Given the description of an element on the screen output the (x, y) to click on. 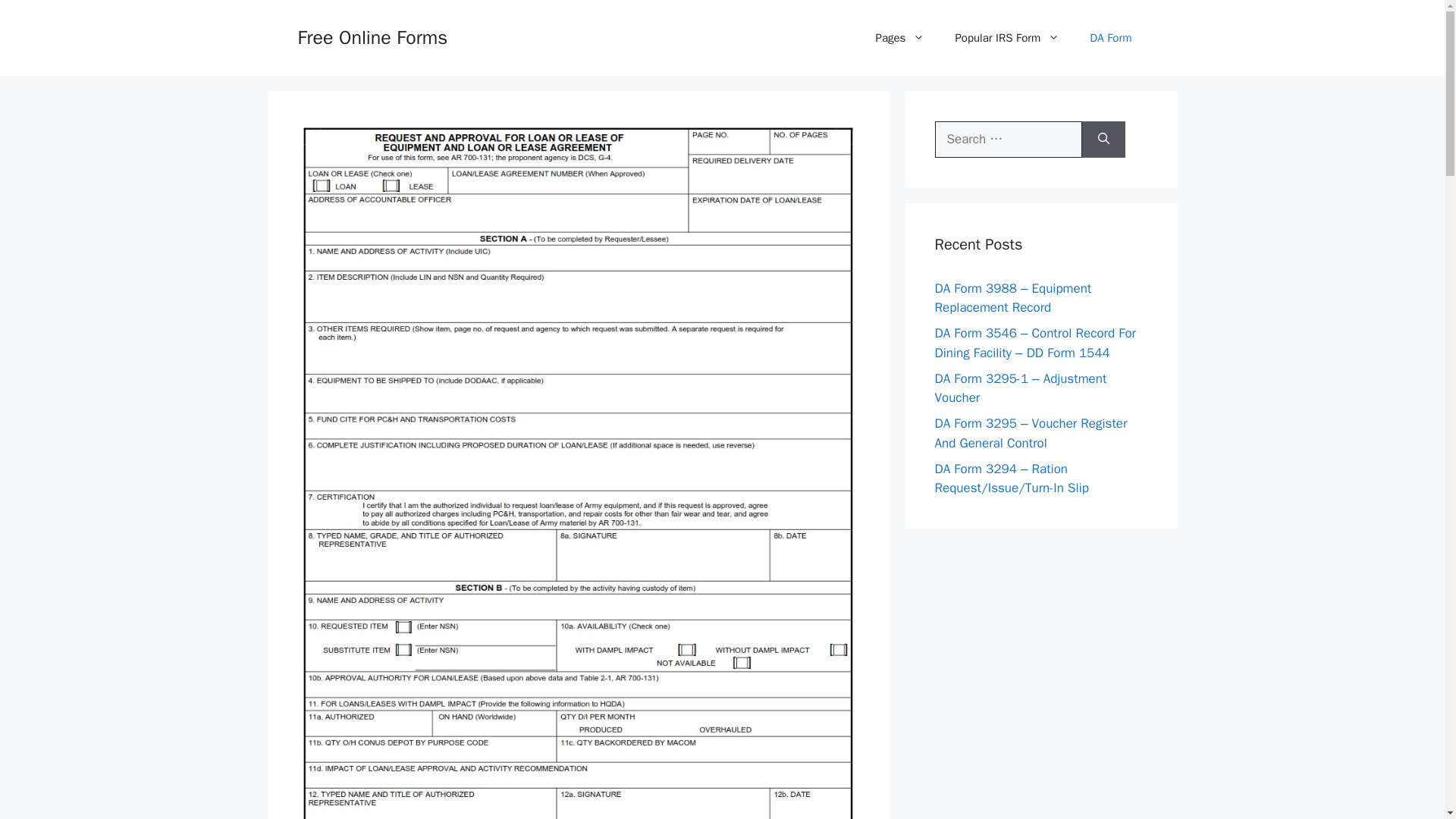
Free Online Forms (371, 37)
DA Form (1110, 37)
Pages (900, 37)
Search for: (1007, 139)
Popular IRS Form (1006, 37)
